Given the description of an element on the screen output the (x, y) to click on. 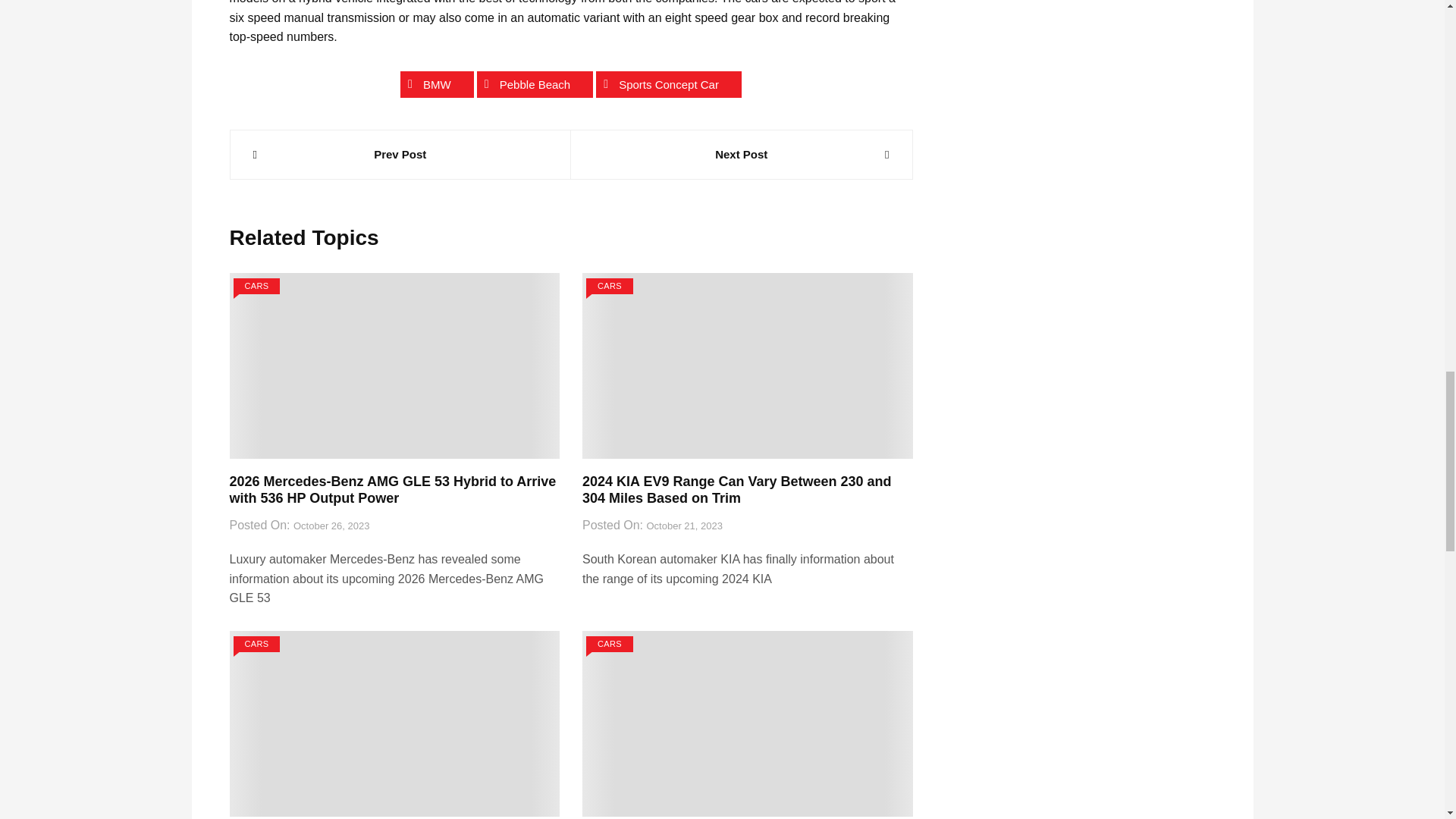
CARS (256, 286)
Pebble Beach (534, 84)
October 26, 2023 (331, 526)
CARS (609, 286)
BMW (437, 84)
Next Post (741, 154)
Sports Concept Car (668, 84)
Prev Post (400, 154)
